Given the description of an element on the screen output the (x, y) to click on. 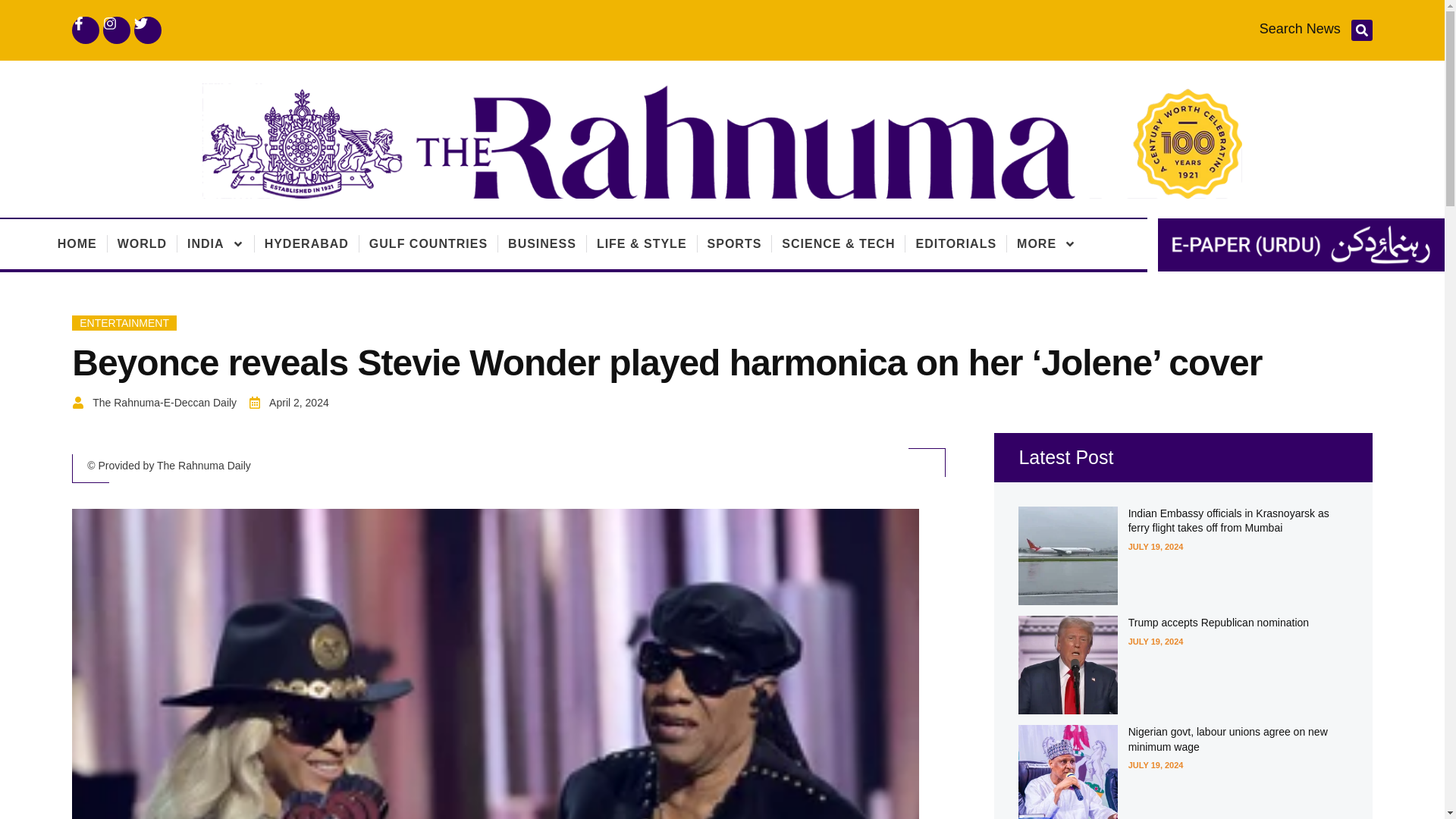
ENTERTAINMENT (124, 322)
BUSINESS (542, 244)
WORLD (142, 244)
GULF COUNTRIES (428, 244)
EDITORIALS (955, 244)
INDIA (215, 244)
SPORTS (734, 244)
HYDERABAD (306, 244)
MORE (1045, 244)
